Given the description of an element on the screen output the (x, y) to click on. 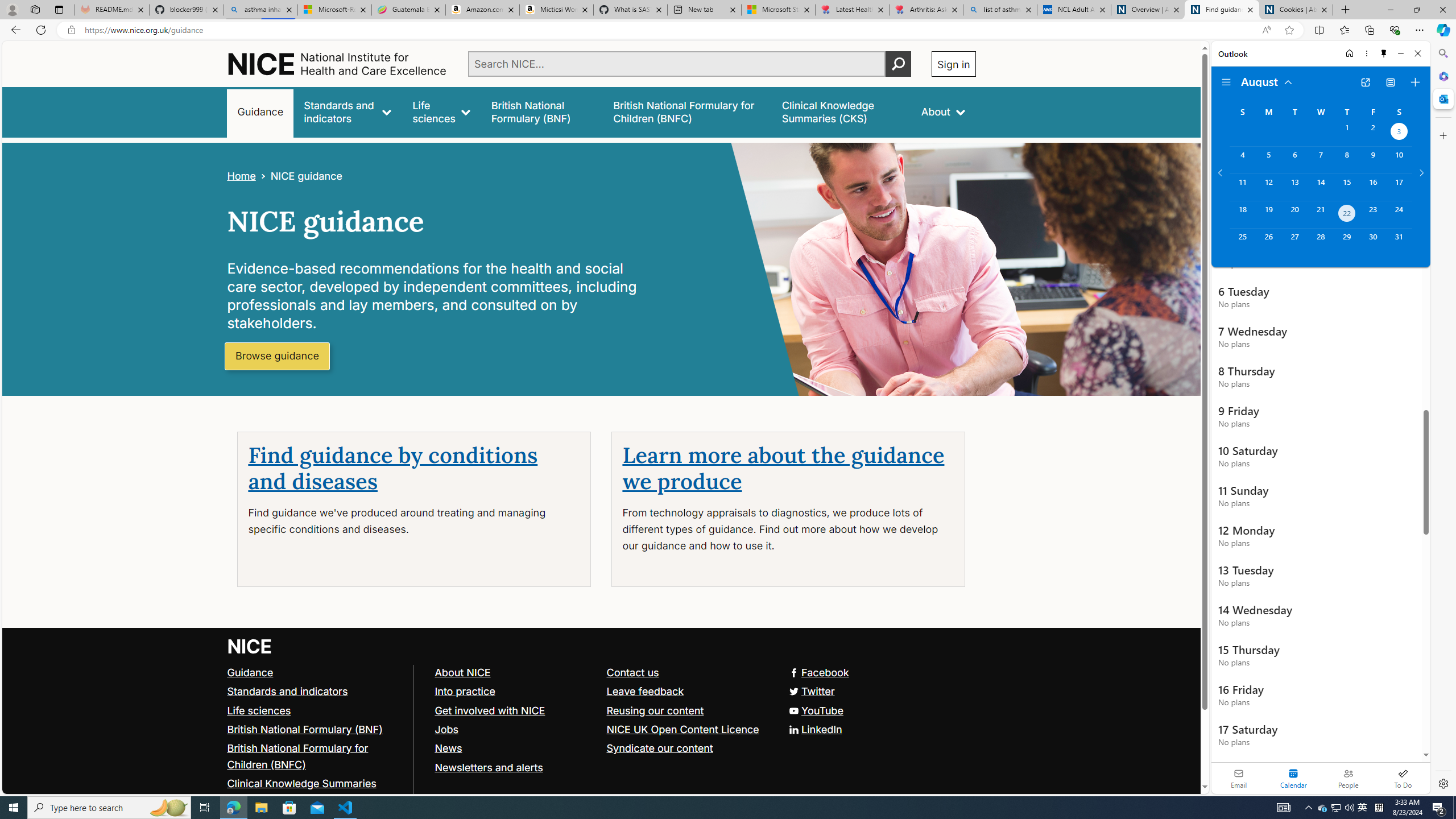
People (1347, 777)
Facebook (601, 672)
Tuesday, August 6, 2024.  (1294, 159)
Into practice (464, 690)
Tuesday, August 13, 2024.  (1294, 186)
